Given the description of an element on the screen output the (x, y) to click on. 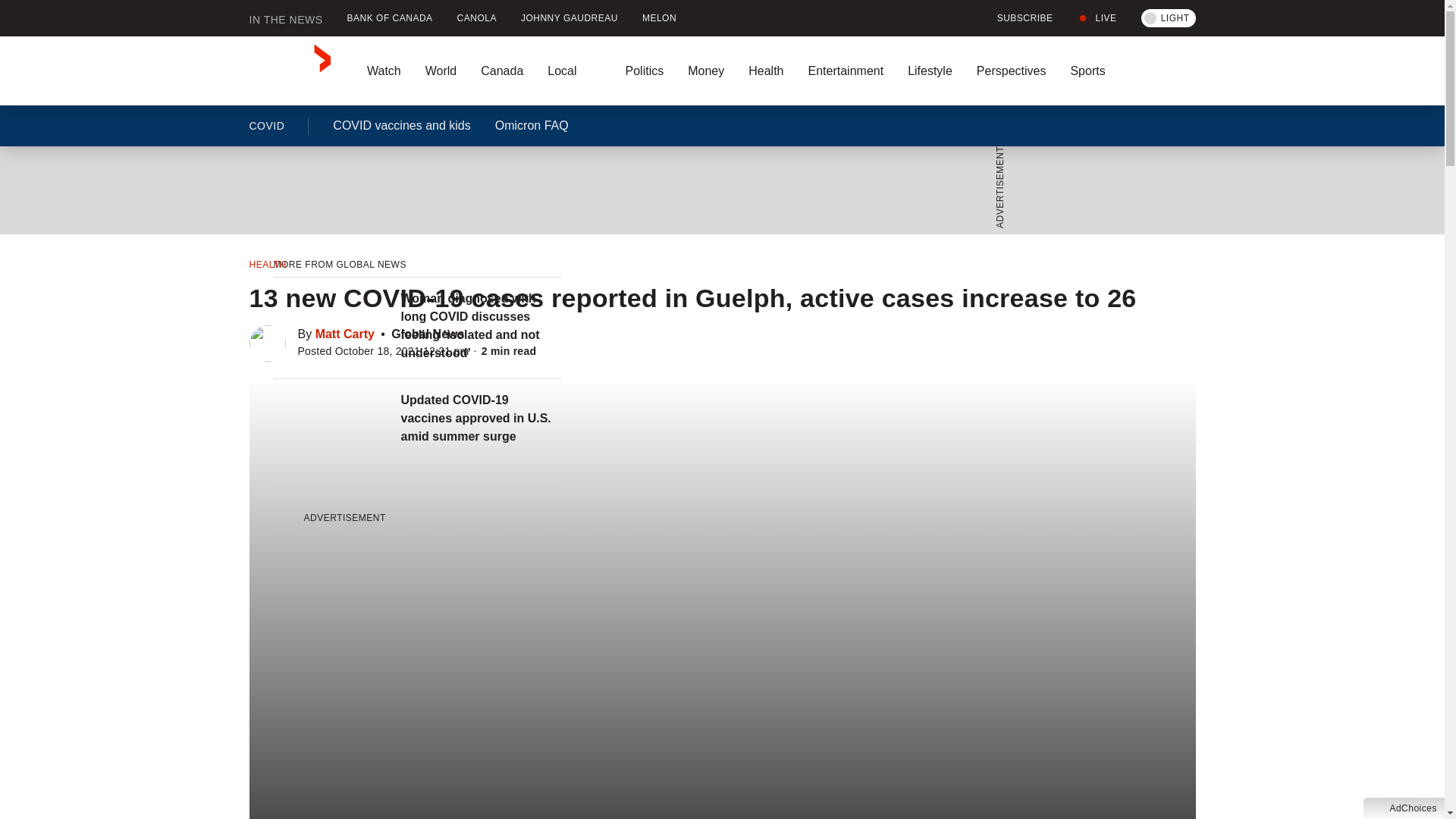
SUBSCRIBE (1015, 18)
Posts by Matt Carty (344, 334)
Local (573, 70)
Lifestyle (929, 70)
JOHNNY GAUDREAU (569, 18)
BANK OF CANADA (389, 18)
GlobalNews home (289, 70)
Updated COVID-19 vaccines approved in U.S. amid summer surge (480, 418)
Politics (643, 70)
CANOLA (476, 18)
